Given the description of an element on the screen output the (x, y) to click on. 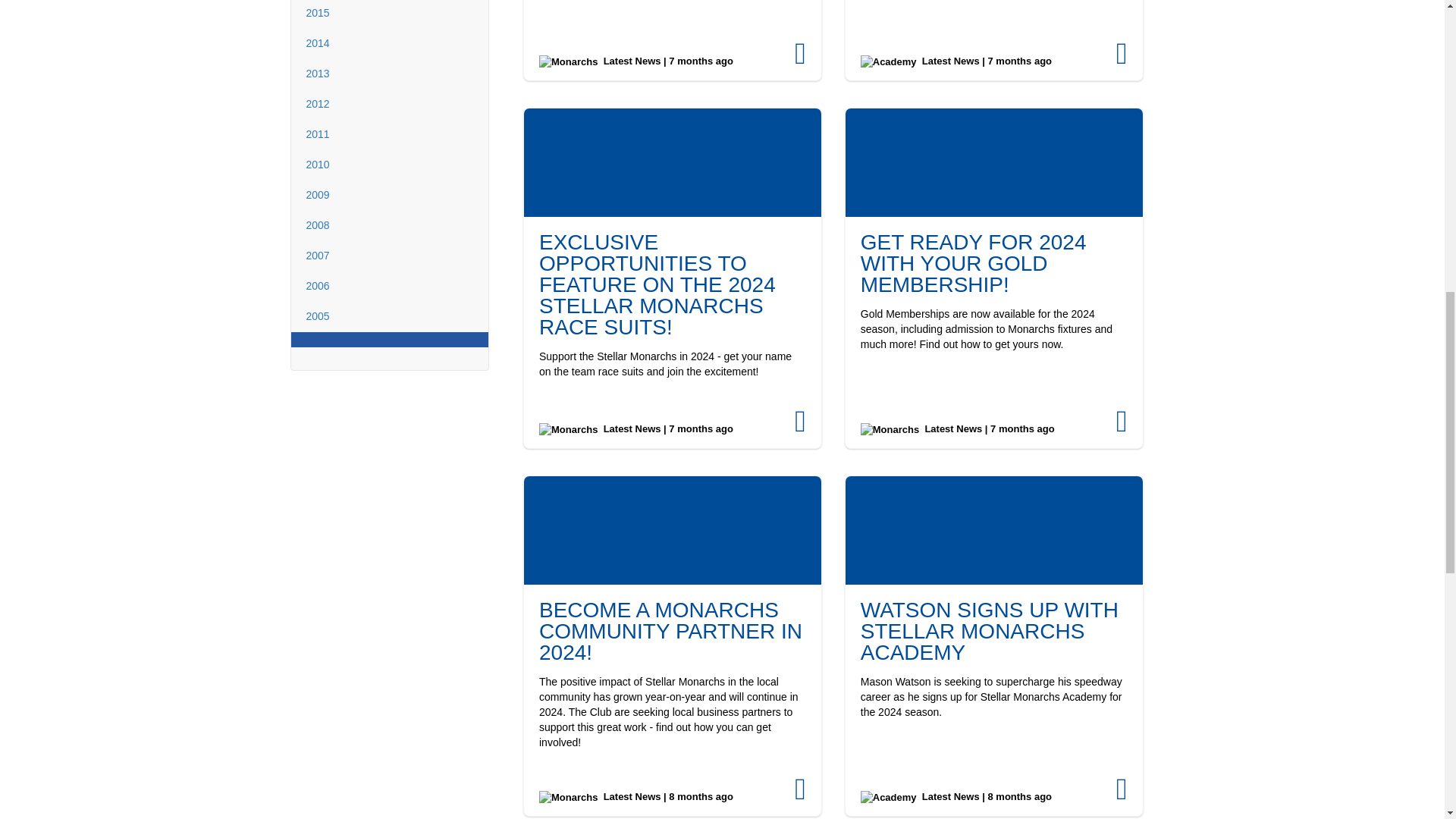
Academy (888, 798)
Monarchs (567, 62)
Monarchs (889, 430)
Academy (888, 62)
Monarchs (567, 798)
Monarchs (567, 430)
